Given the description of an element on the screen output the (x, y) to click on. 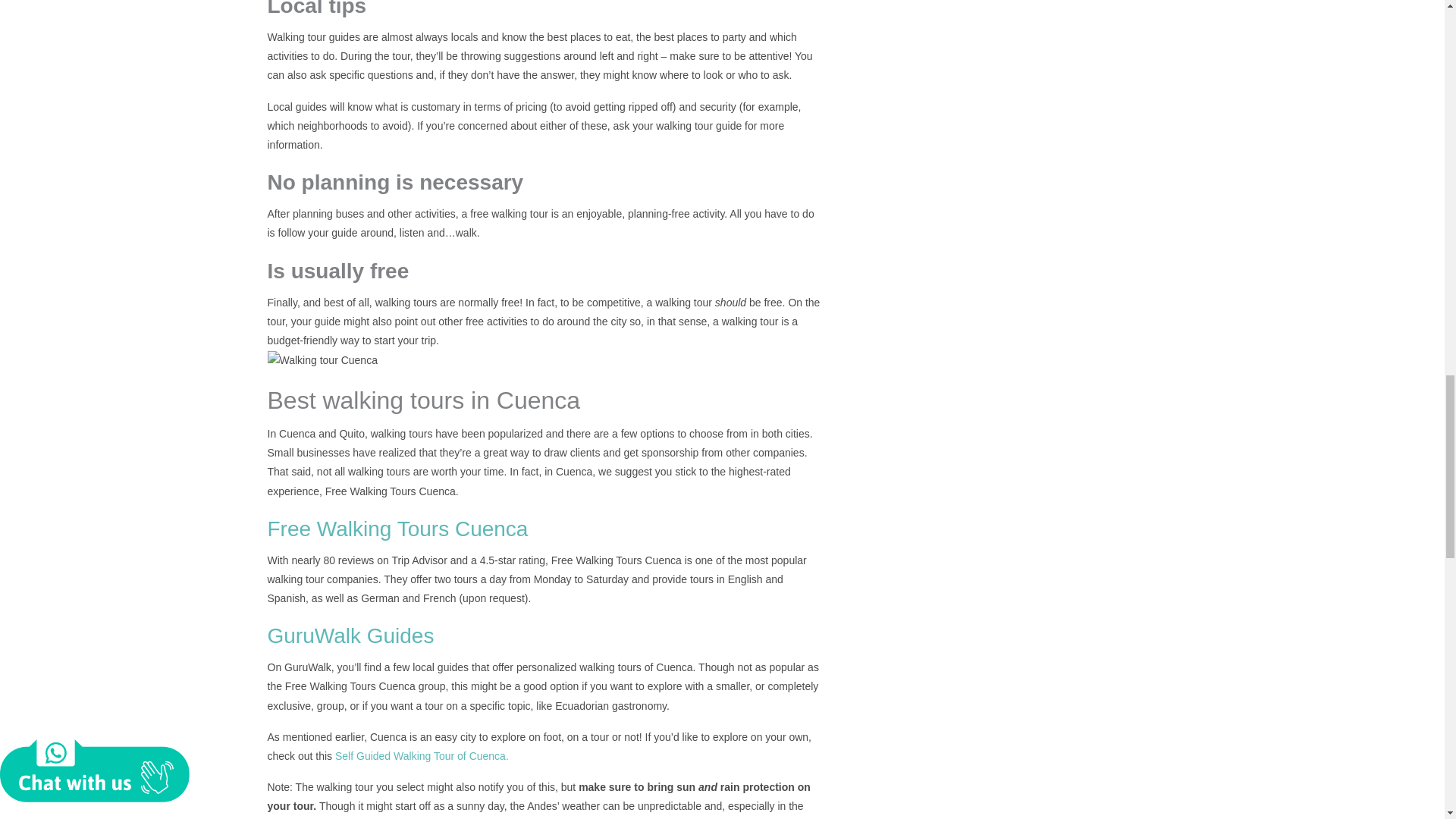
Walking tour Cuenca (321, 360)
